Given the description of an element on the screen output the (x, y) to click on. 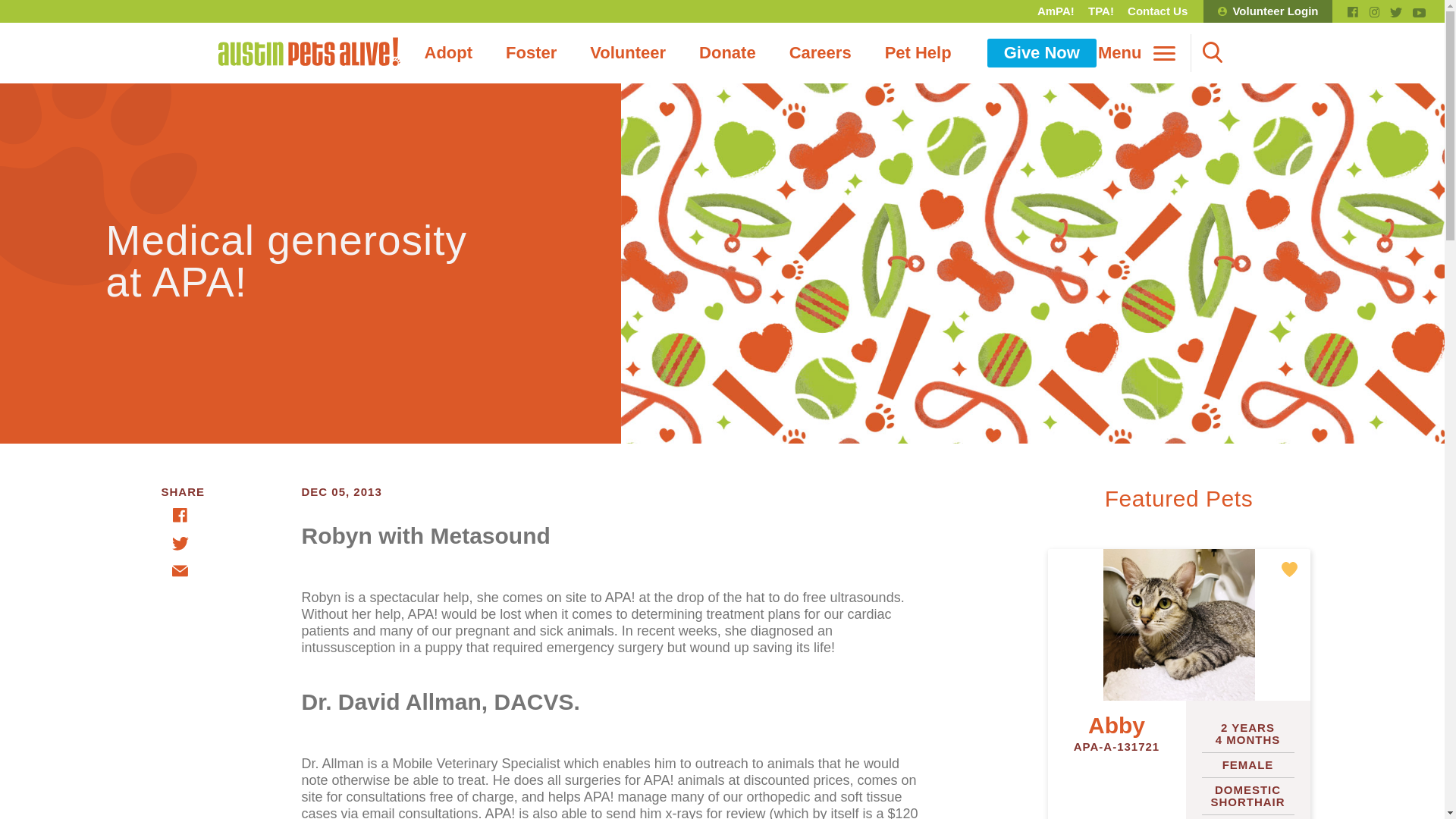
TPA! (1101, 11)
Foster (531, 52)
Careers (820, 52)
Donate (727, 52)
Contact Us (1157, 11)
Volunteer (627, 52)
Volunteer Login (1268, 11)
Adopt (448, 52)
AmPA! (1056, 11)
Pet Help (917, 52)
